Given the description of an element on the screen output the (x, y) to click on. 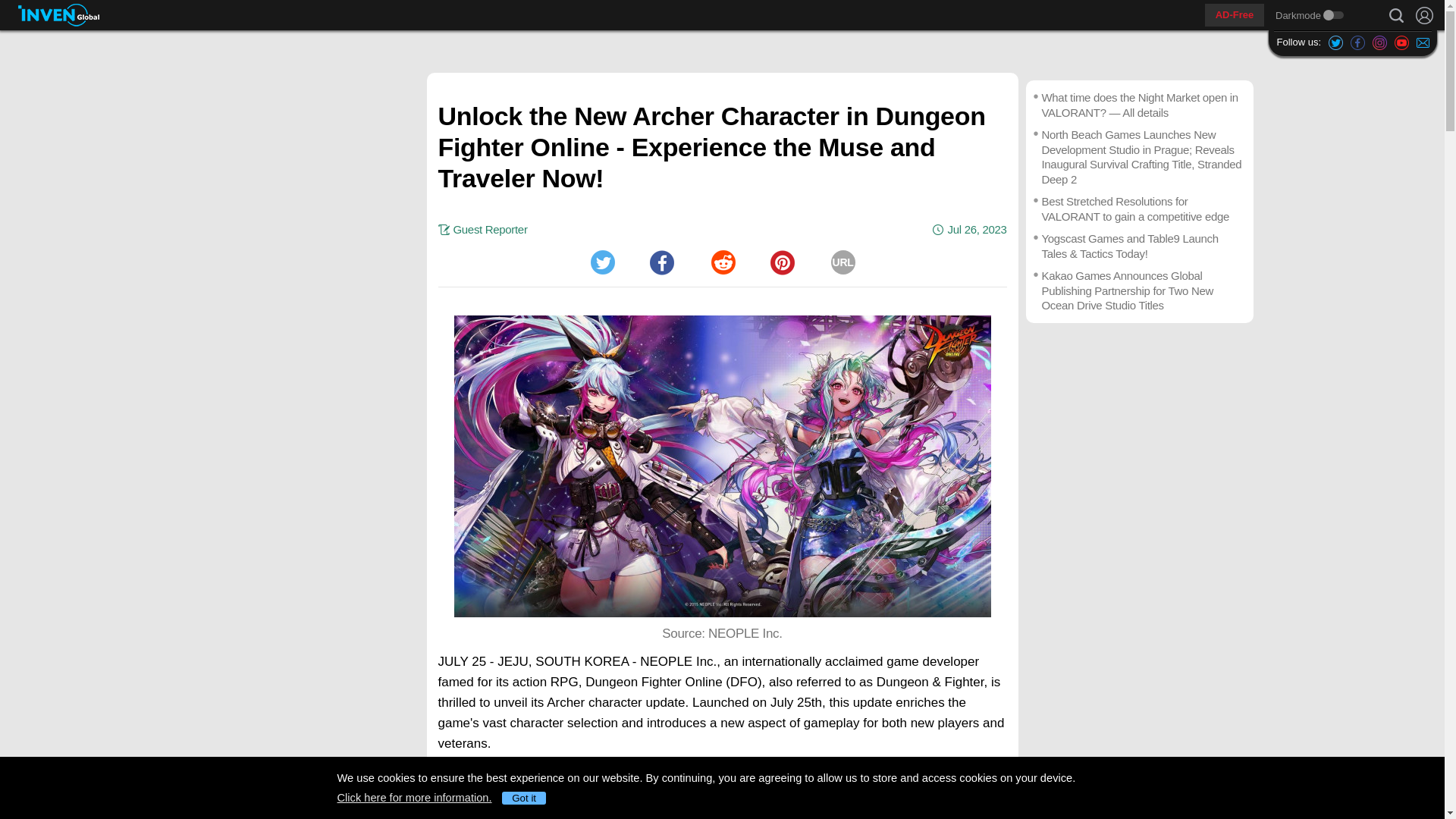
Login (1424, 15)
AD-Free (1234, 15)
search (1395, 15)
Inven Global Newsletter (1422, 42)
Tweet (601, 262)
Pinterest (782, 262)
Inven Global Youtube (1401, 42)
Inven Global Facebook (1358, 42)
Twitter (601, 262)
Inven Global Facebook (1358, 42)
